Given the description of an element on the screen output the (x, y) to click on. 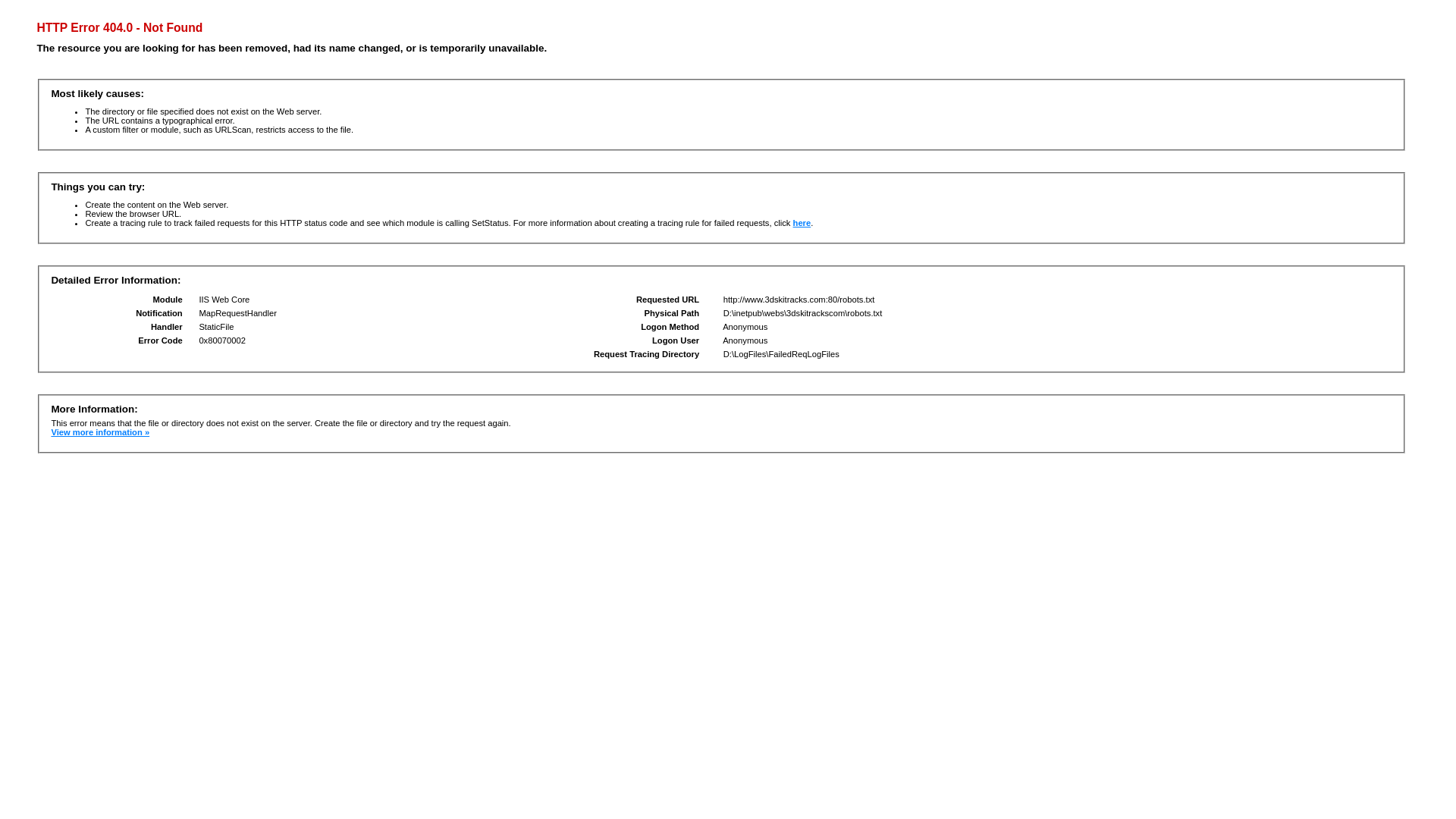
here Element type: text (802, 222)
